Given the description of an element on the screen output the (x, y) to click on. 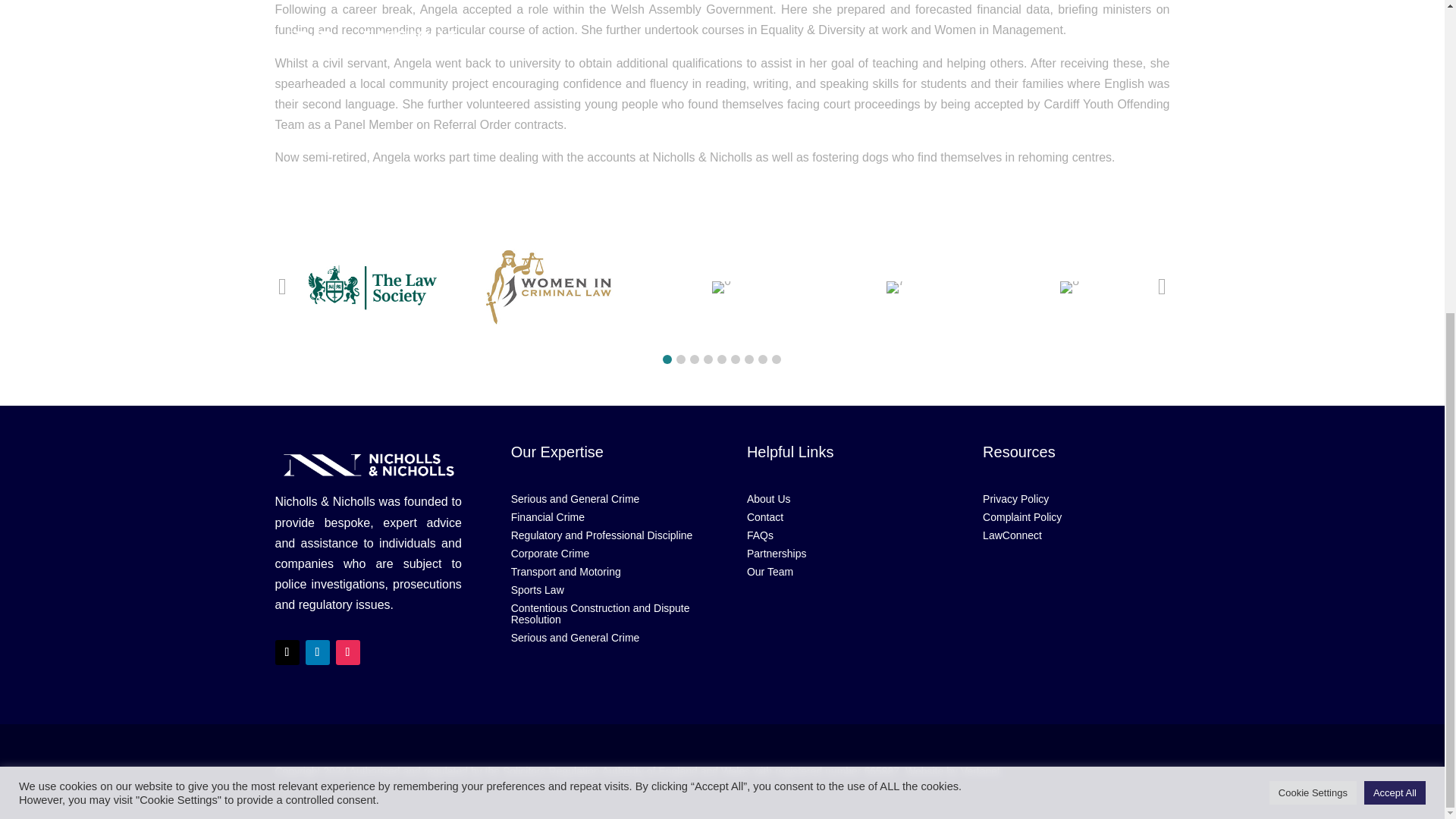
Serious and General Crime (604, 638)
Follow on Instagram (346, 652)
Transport and Motoring (604, 572)
Follow on LinkedIn (316, 652)
Contact (839, 517)
Follow on X (286, 652)
Sports Law (604, 590)
logo-horizontal (368, 464)
About Us (839, 499)
Contentious Construction and Dispute Resolution (604, 614)
